Given the description of an element on the screen output the (x, y) to click on. 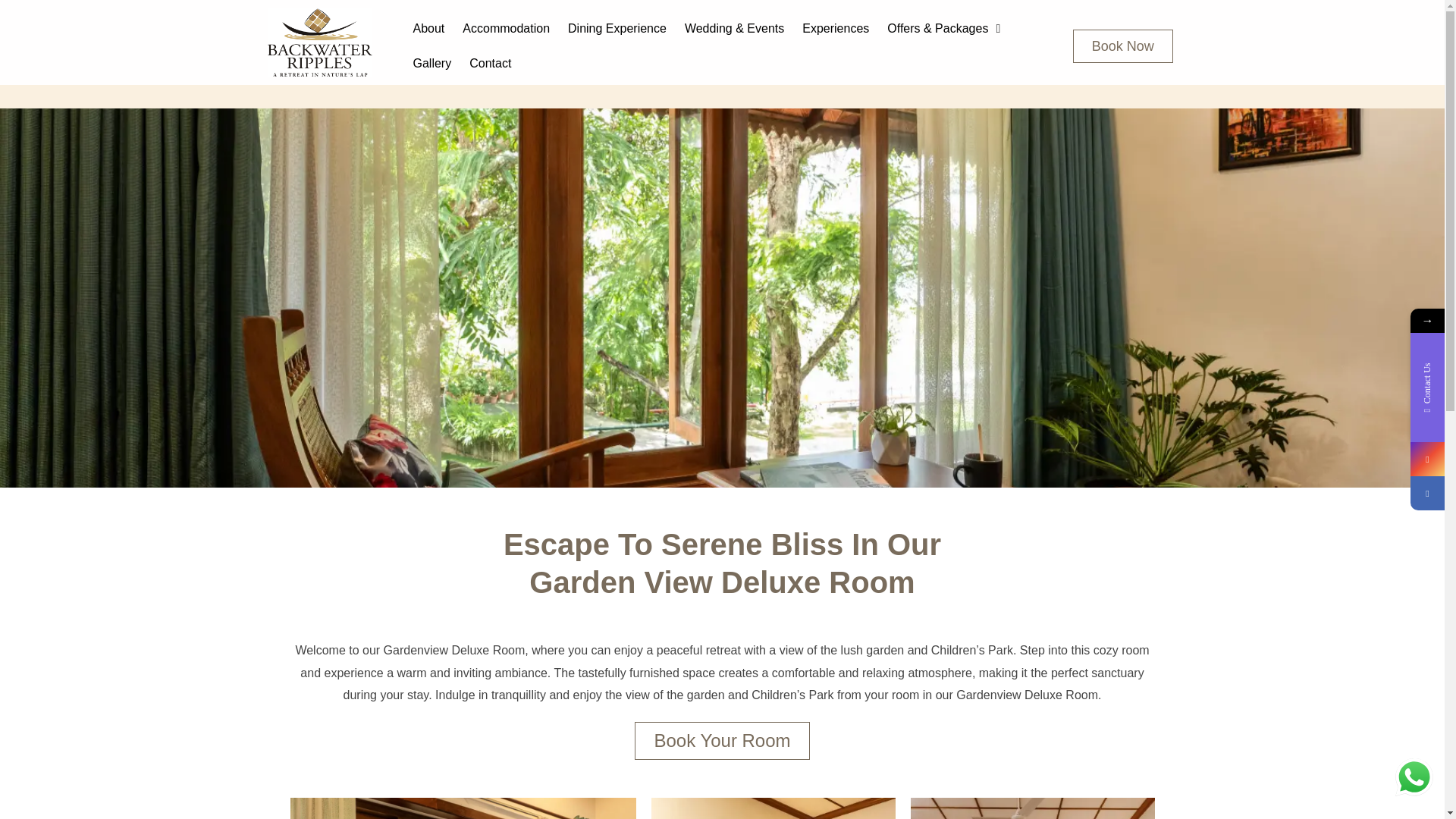
WhatsApp us (1413, 777)
Dining Experience (617, 28)
Gallery (431, 63)
Book Now (1123, 46)
Accommodation (505, 28)
Experiences (835, 28)
Book Your Room (721, 740)
About (427, 28)
Contact (489, 63)
